Given the description of an element on the screen output the (x, y) to click on. 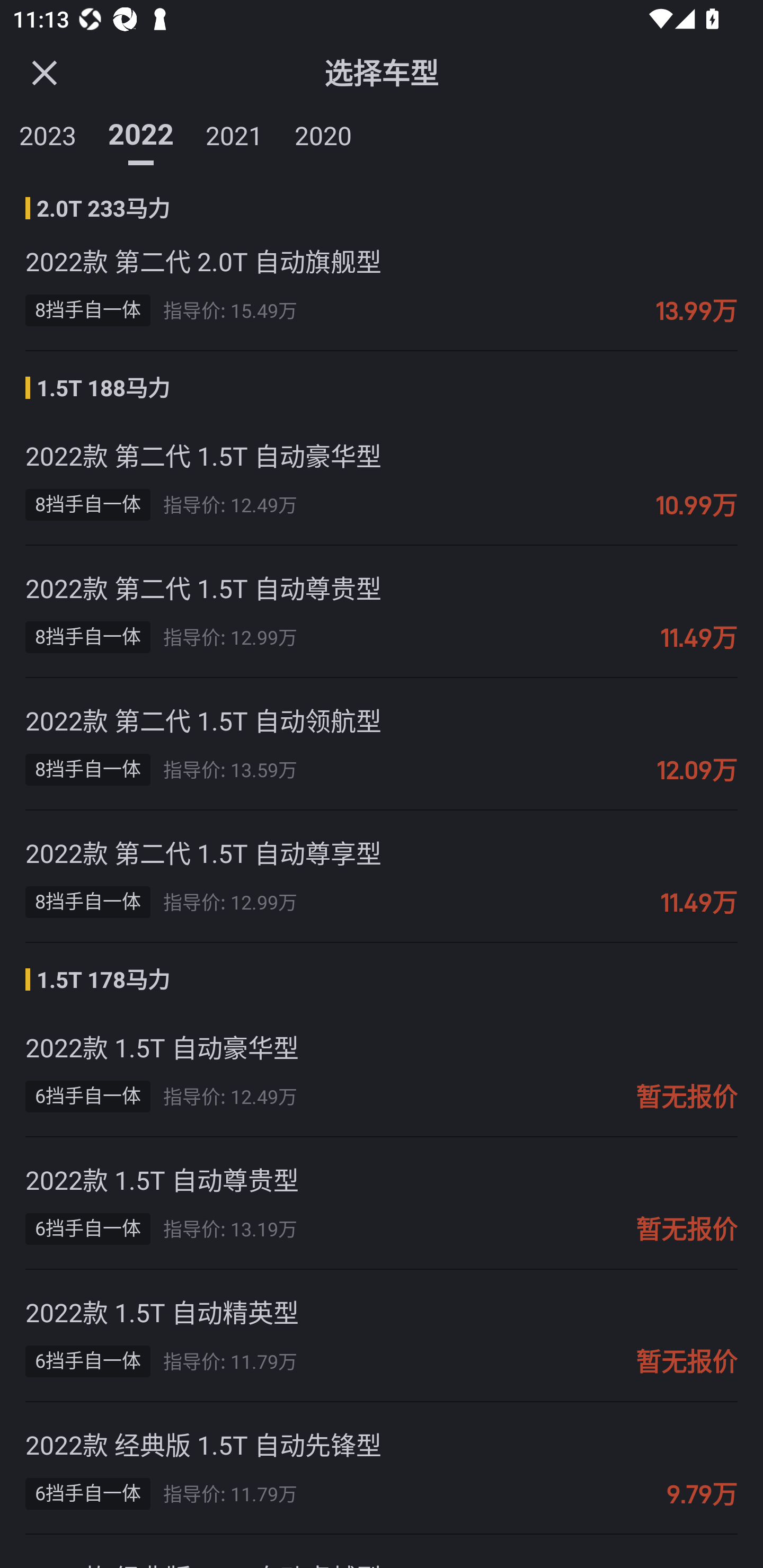
 (44, 71)
2023 (47, 132)
2022 (140, 132)
2021 (233, 132)
2020 (322, 132)
8挡手自一体 指导价: 14.79万 13.29万 (381, 194)
2022款 第二代 2.0T 自动旗舰型 8挡手自一体 指导价: 15.49万 13.99万 (381, 285)
2022款 第二代 1.5T 自动豪华型 8挡手自一体 指导价: 12.49万 10.99万 (381, 479)
2022款 第二代 1.5T 自动尊贵型 8挡手自一体 指导价: 12.99万 11.49万 (381, 611)
2022款 第二代 1.5T 自动领航型 8挡手自一体 指导价: 13.59万 12.09万 (381, 743)
2022款 第二代 1.5T 自动尊享型 8挡手自一体 指导价: 12.99万 11.49万 (381, 876)
2022款 1.5T 自动豪华型 6挡手自一体 指导价: 12.49万 暂无报价 (381, 1070)
2022款 1.5T 自动尊贵型 6挡手自一体 指导价: 13.19万 暂无报价 (381, 1203)
2022款 1.5T 自动精英型 6挡手自一体 指导价: 11.79万 暂无报价 (381, 1335)
2022款 经典版 1.5T 自动先锋型 6挡手自一体 指导价: 11.79万 9.79万 (381, 1468)
